Given the description of an element on the screen output the (x, y) to click on. 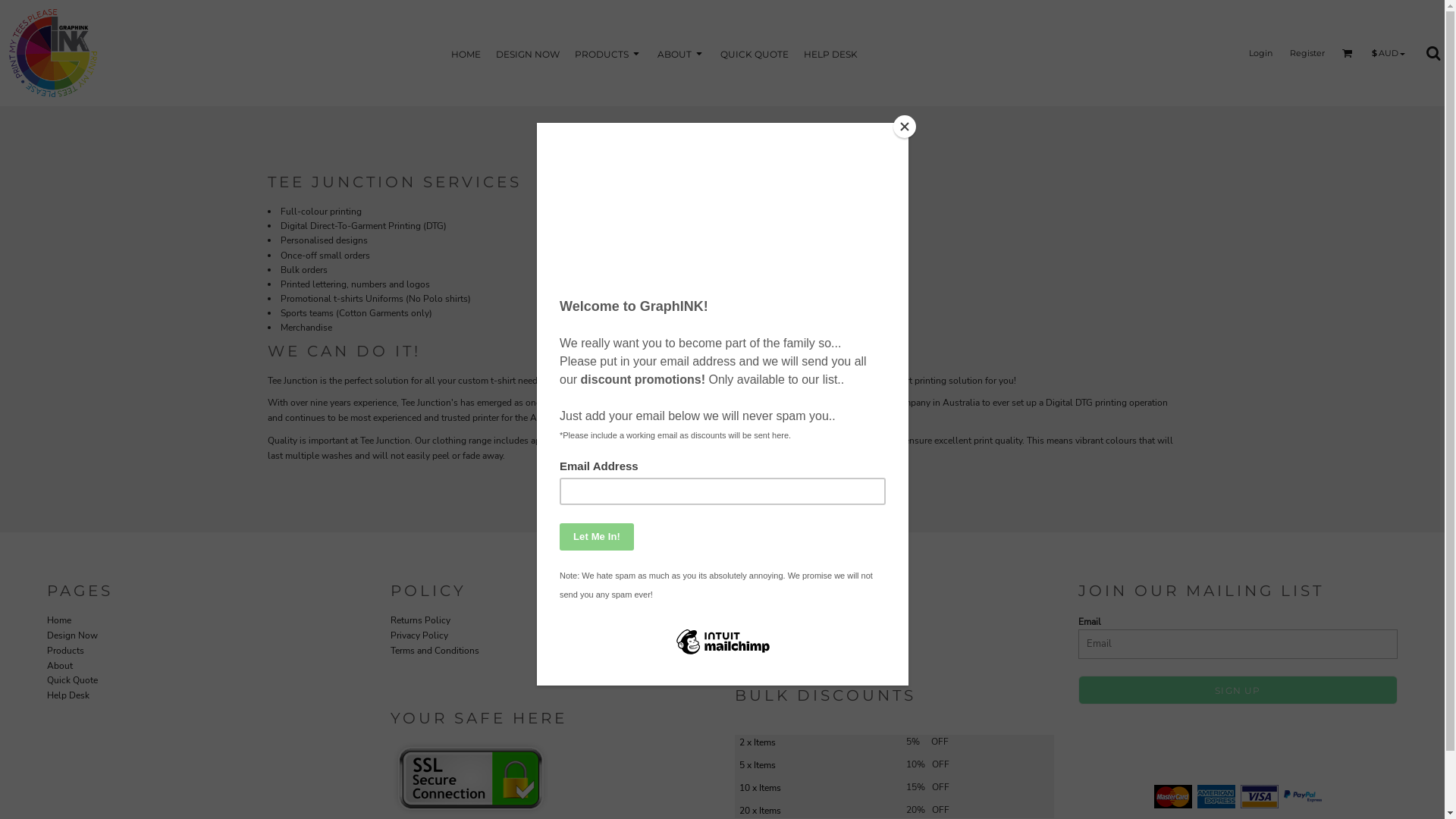
ABOUT Element type: text (681, 52)
Help Desk Element type: text (68, 695)
Terms and Conditions Element type: text (434, 650)
Design Now Element type: text (72, 635)
Quick Quote Element type: text (72, 680)
as Element type: text (11, 7)
Products Element type: text (65, 650)
HELP DESK Element type: text (830, 52)
Home Element type: text (59, 620)
Returns Policy Element type: text (420, 620)
Register Element type: text (1306, 52)
Login Element type: text (1259, 52)
DESIGN NOW Element type: text (527, 52)
About Element type: text (59, 665)
Privacy Policy Element type: text (419, 635)
QUICK QUOTE Element type: text (754, 52)
HOME Element type: text (465, 52)
PRODUCTS Element type: text (608, 52)
SIGN UP Element type: text (1237, 689)
